Given the description of an element on the screen output the (x, y) to click on. 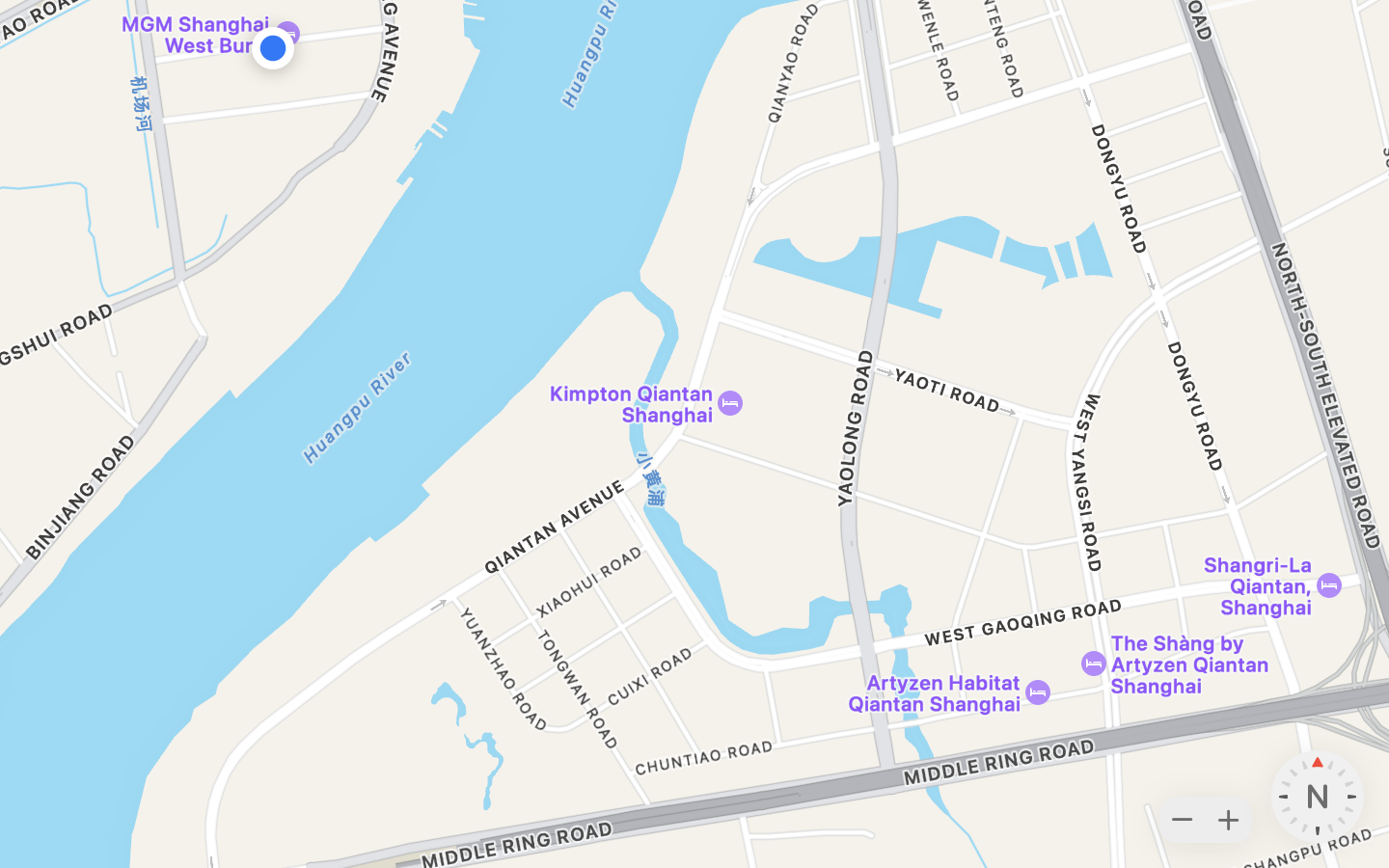
Heading: 0 degrees North Element type: AXButton (1317, 796)
